Given the description of an element on the screen output the (x, y) to click on. 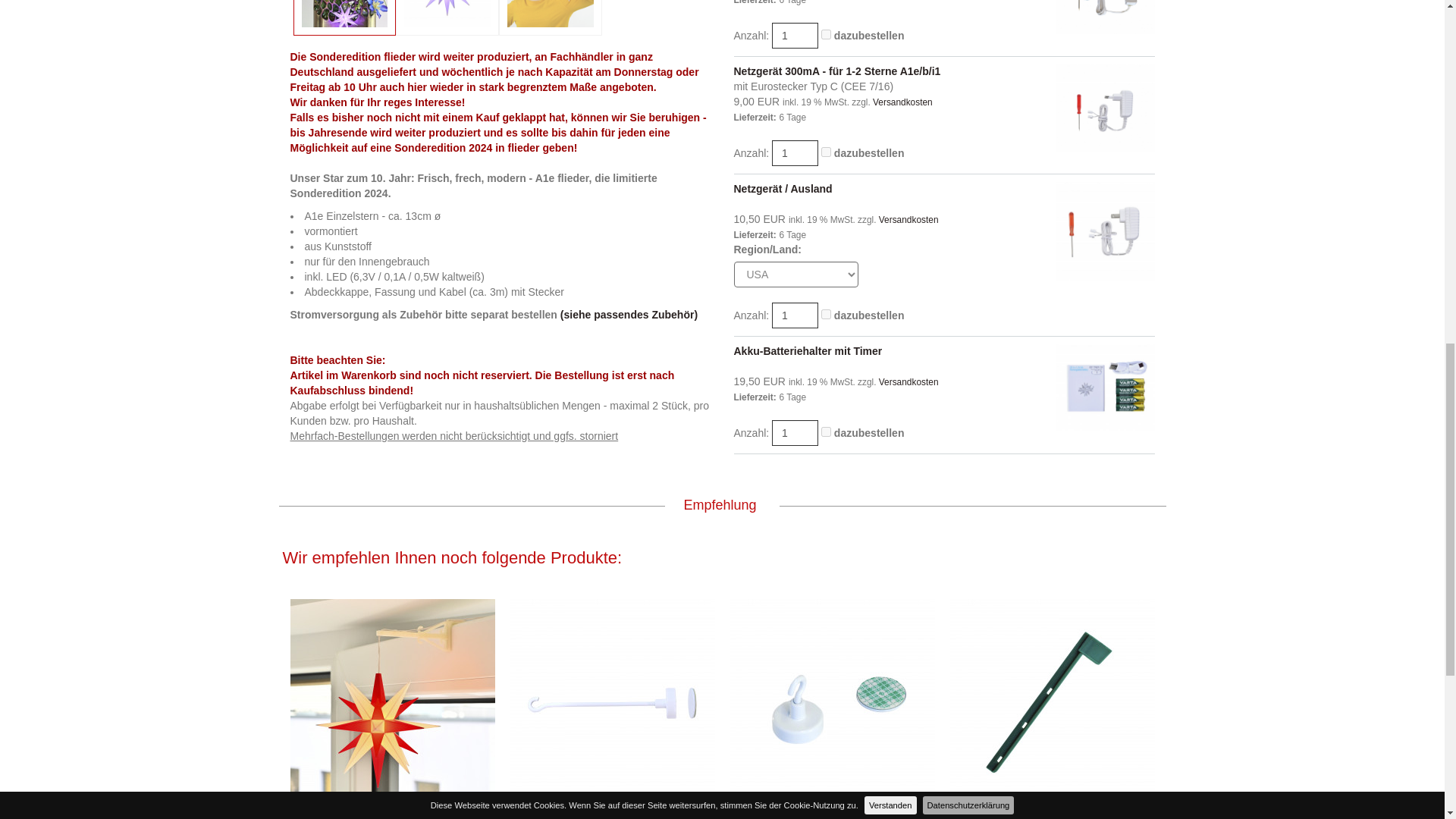
1 (794, 35)
567 (826, 431)
436 (826, 152)
1 (794, 153)
390 (826, 34)
1 (794, 432)
1 (794, 315)
437 (826, 314)
